Given the description of an element on the screen output the (x, y) to click on. 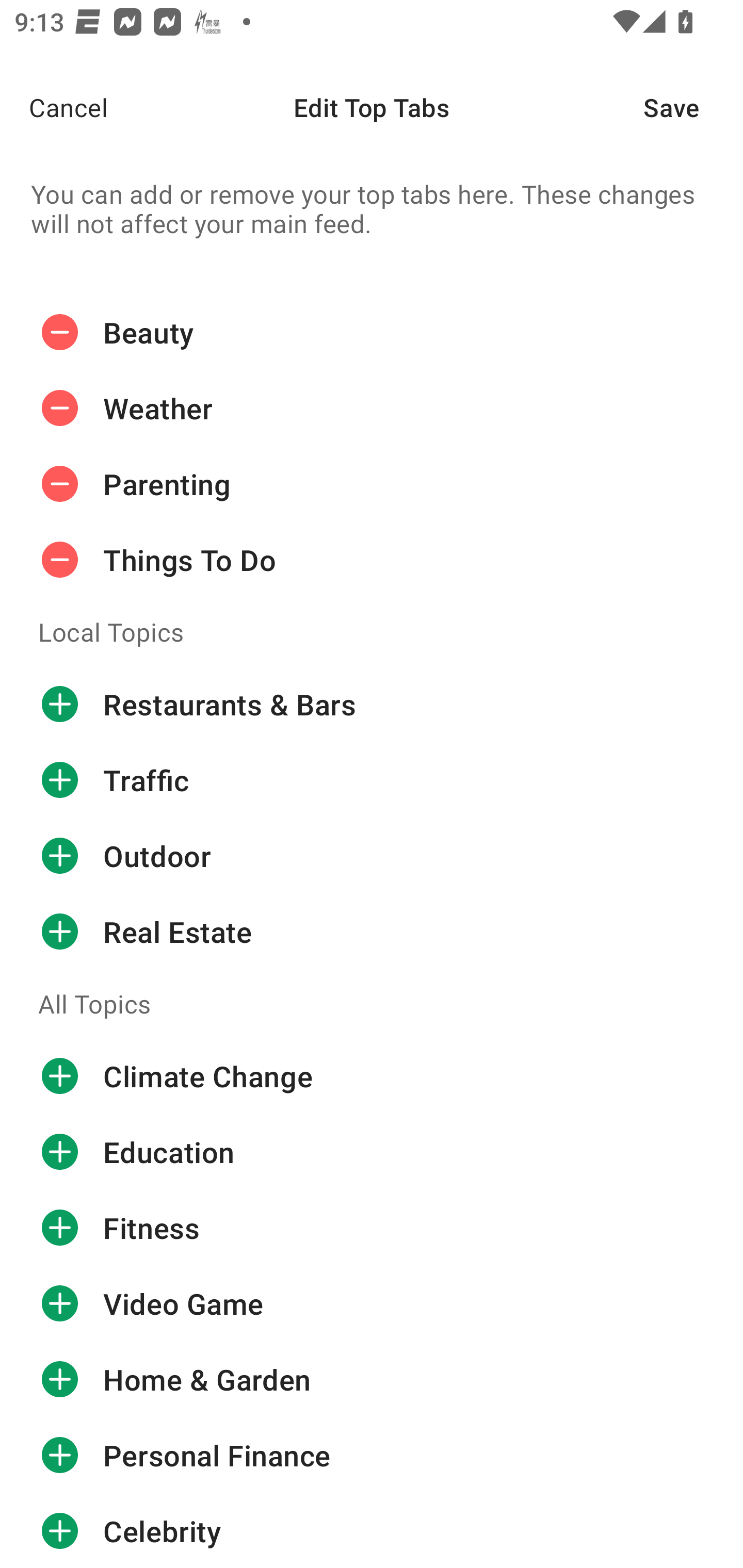
Cancel (53, 106)
Save (693, 106)
Beauty (371, 332)
Weather (371, 408)
Parenting (371, 484)
Things To Do (371, 559)
Restaurants & Bars (371, 703)
Traffic (371, 779)
Outdoor (371, 855)
Real Estate (371, 931)
Climate Change (371, 1076)
Education (371, 1152)
Fitness (371, 1227)
Video Game (371, 1303)
Home & Garden (371, 1379)
Personal Finance (371, 1454)
Celebrity (371, 1530)
